Given the description of an element on the screen output the (x, y) to click on. 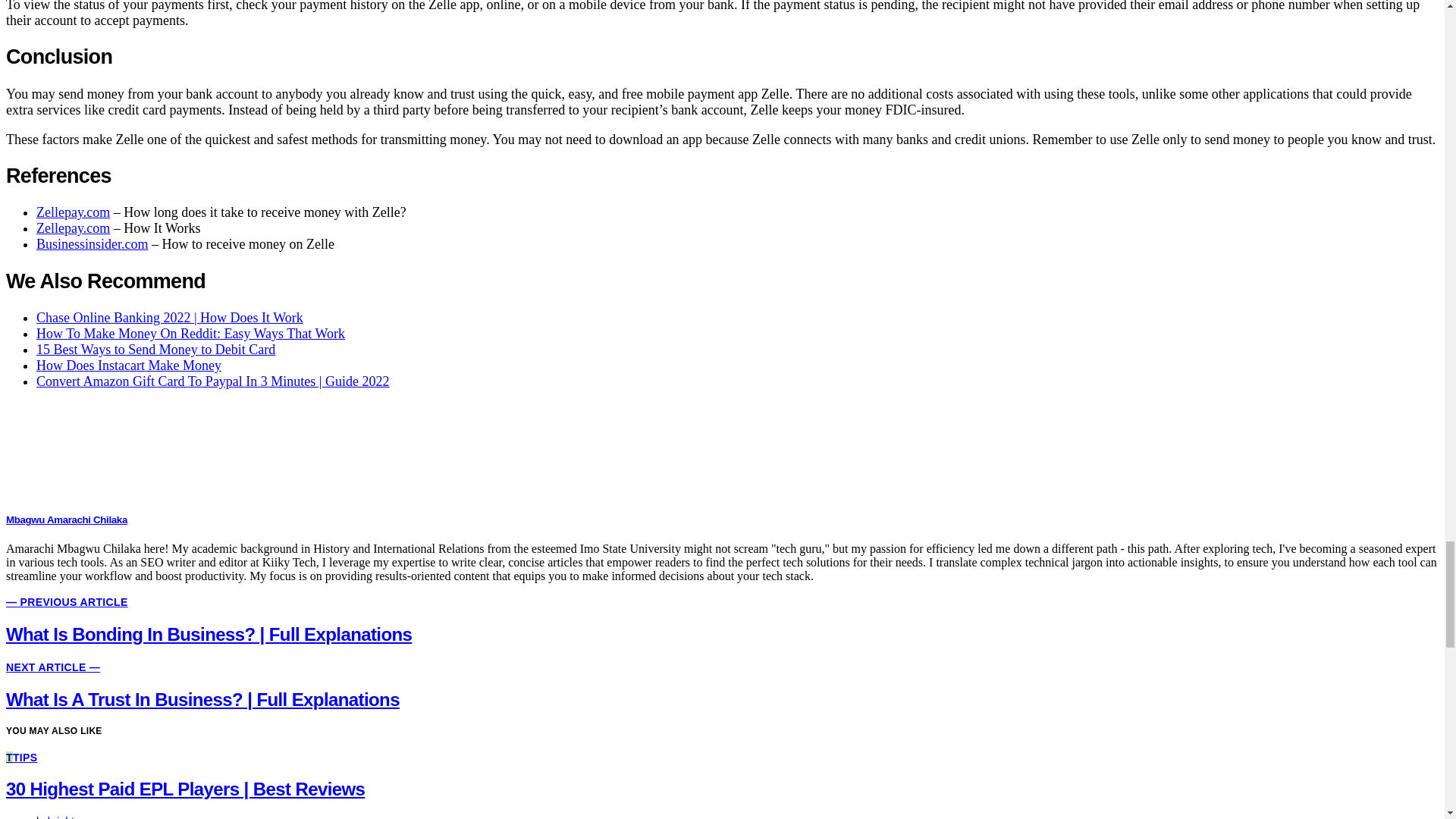
View all posts by bright (61, 816)
